Given the description of an element on the screen output the (x, y) to click on. 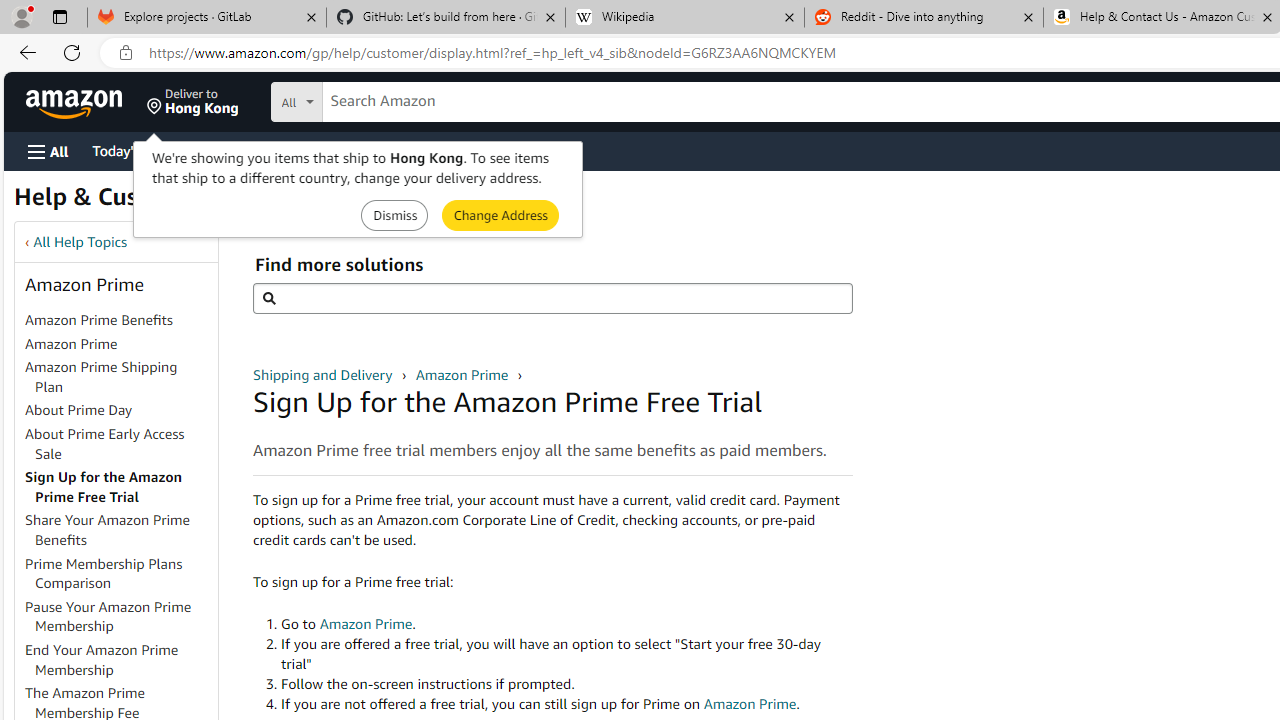
Follow the on-screen instructions if prompted. (566, 683)
Pause Your Amazon Prime Membership (120, 616)
Go to Amazon Prime. (566, 624)
About Prime Early Access Sale (120, 444)
All Help Topics (80, 242)
Sign Up for the Amazon Prime Free Trial (120, 488)
Sell (509, 150)
Amazon Prime (71, 343)
Amazon Prime Shipping Plan (101, 376)
Amazon Prime (120, 344)
End Your Amazon Prime Membership (120, 660)
